Given the description of an element on the screen output the (x, y) to click on. 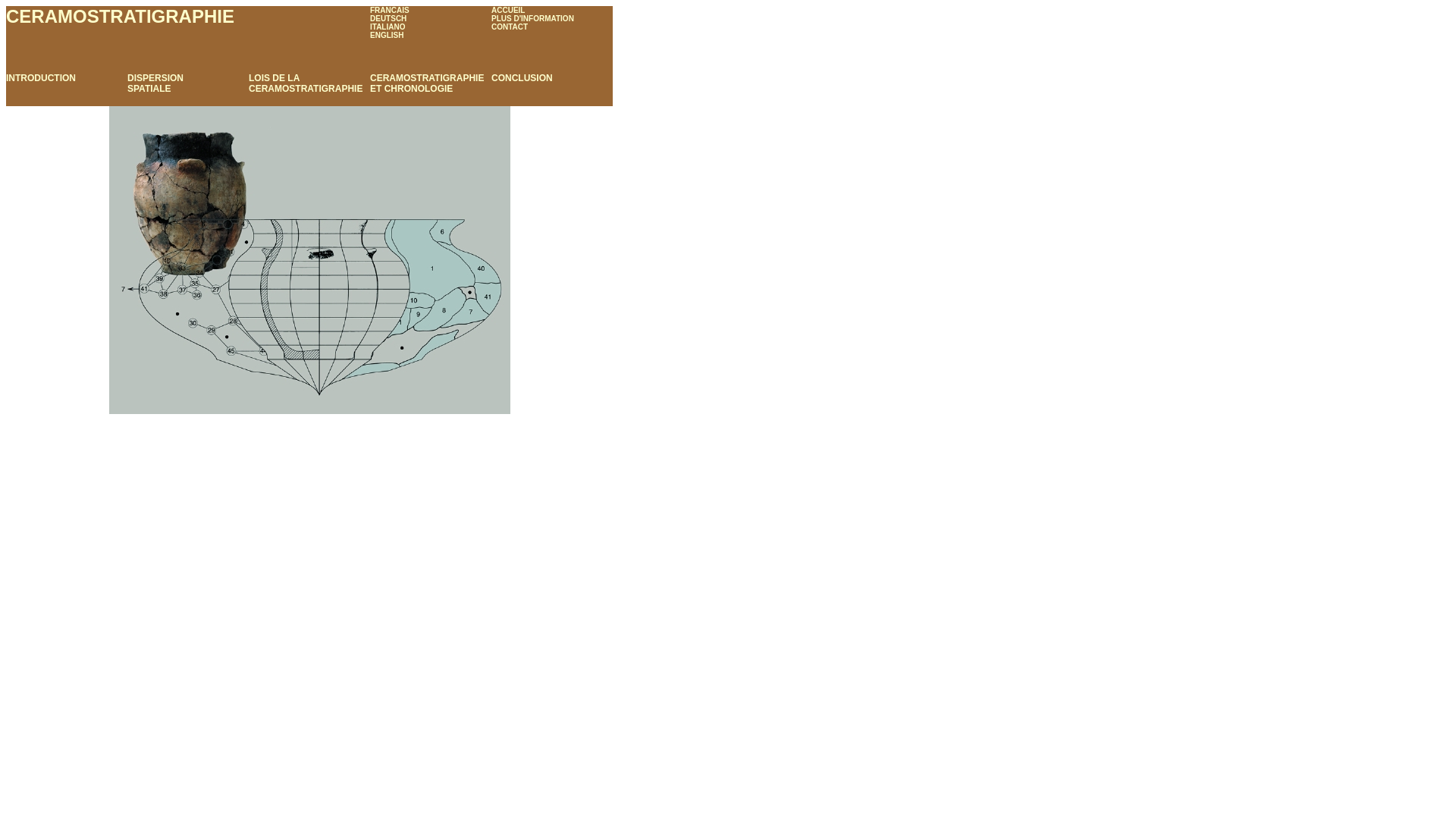
LOIS DE LA CERAMOSTRATIGRAPHIE Element type: text (305, 83)
DEUTSCH Element type: text (388, 18)
PLUS D'INFORMATION Element type: text (532, 18)
ITALIANO Element type: text (387, 26)
FRANCAIS Element type: text (389, 9)
ACCUEIL Element type: text (507, 10)
CERAMOSTRATIGRAPHIE
ET CHRONOLOGIE Element type: text (426, 83)
CONTACT Element type: text (509, 26)
DISPERSION
SPATIALE Element type: text (155, 83)
ENGLISH Element type: text (386, 35)
INTRODUCTION Element type: text (40, 77)
CONCLUSION Element type: text (521, 77)
